Given the description of an element on the screen output the (x, y) to click on. 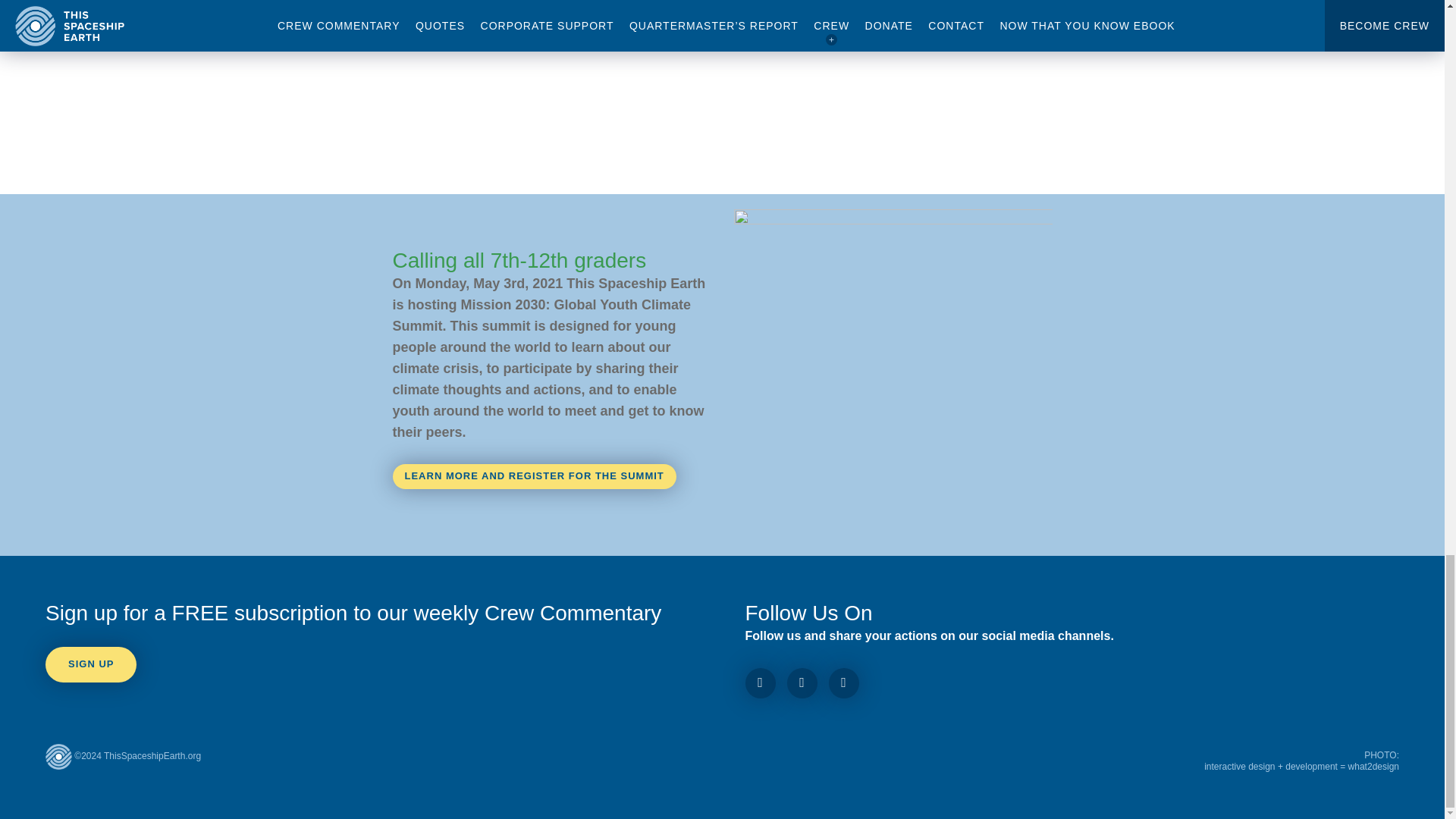
LEARN MORE AND REGISTER FOR THE SUMMIT (535, 476)
SIGN UP (90, 664)
